Given the description of an element on the screen output the (x, y) to click on. 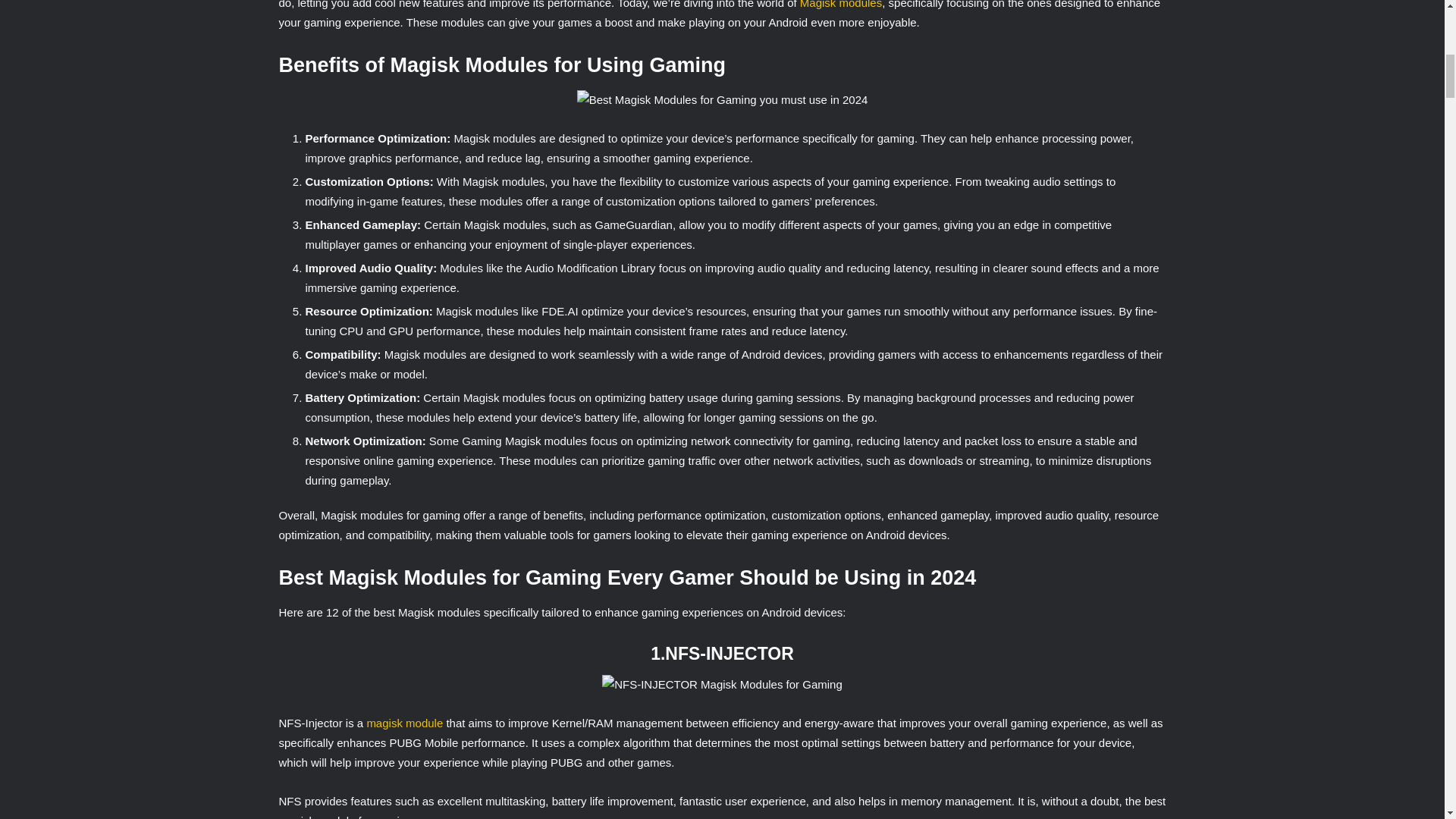
Magisk modules (840, 4)
magisk module (404, 722)
Back to top button (1413, 60)
